Given the description of an element on the screen output the (x, y) to click on. 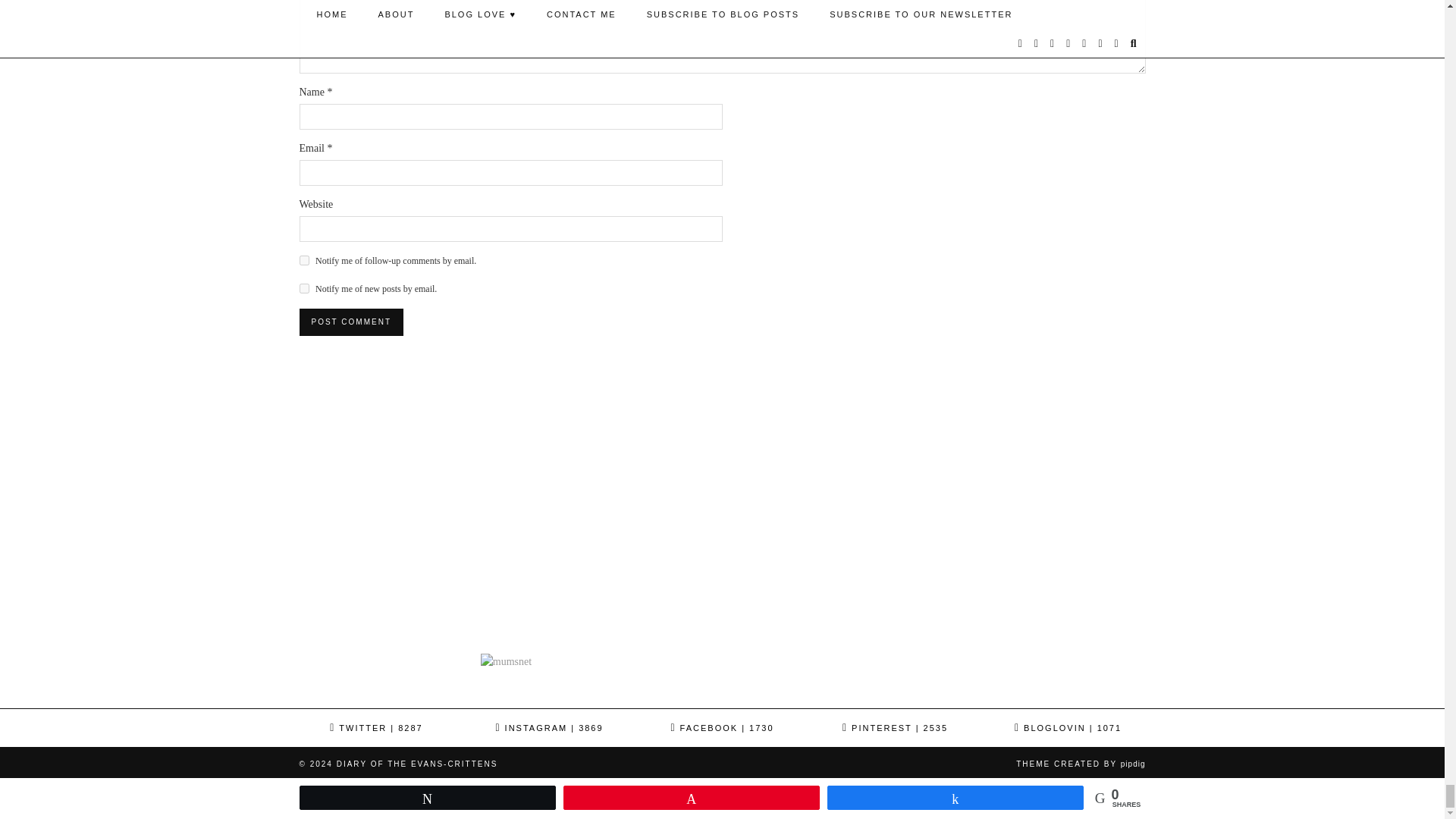
subscribe (303, 288)
Post Comment (350, 321)
subscribe (303, 260)
